Given the description of an element on the screen output the (x, y) to click on. 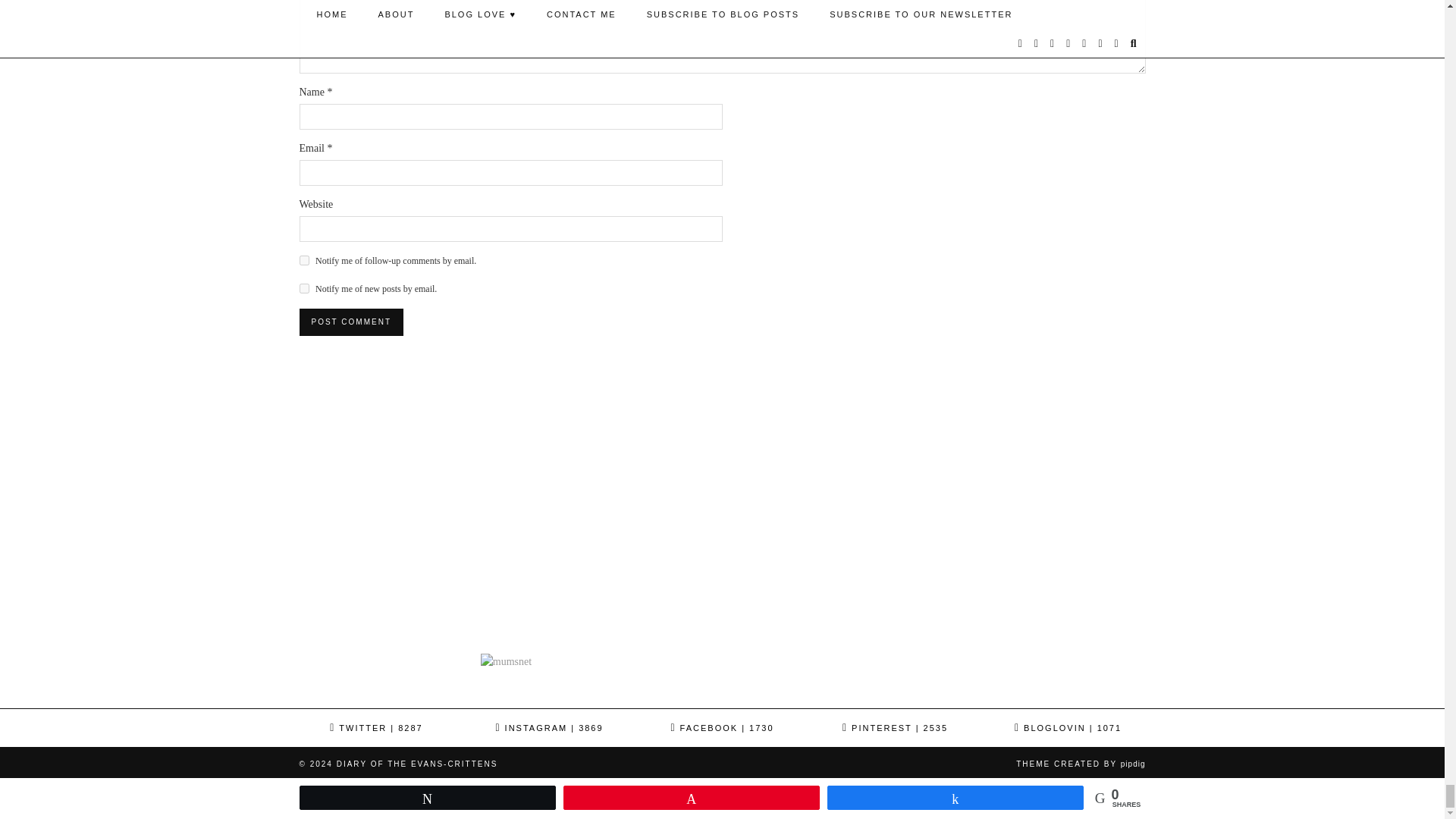
subscribe (303, 288)
Post Comment (350, 321)
subscribe (303, 260)
